Given the description of an element on the screen output the (x, y) to click on. 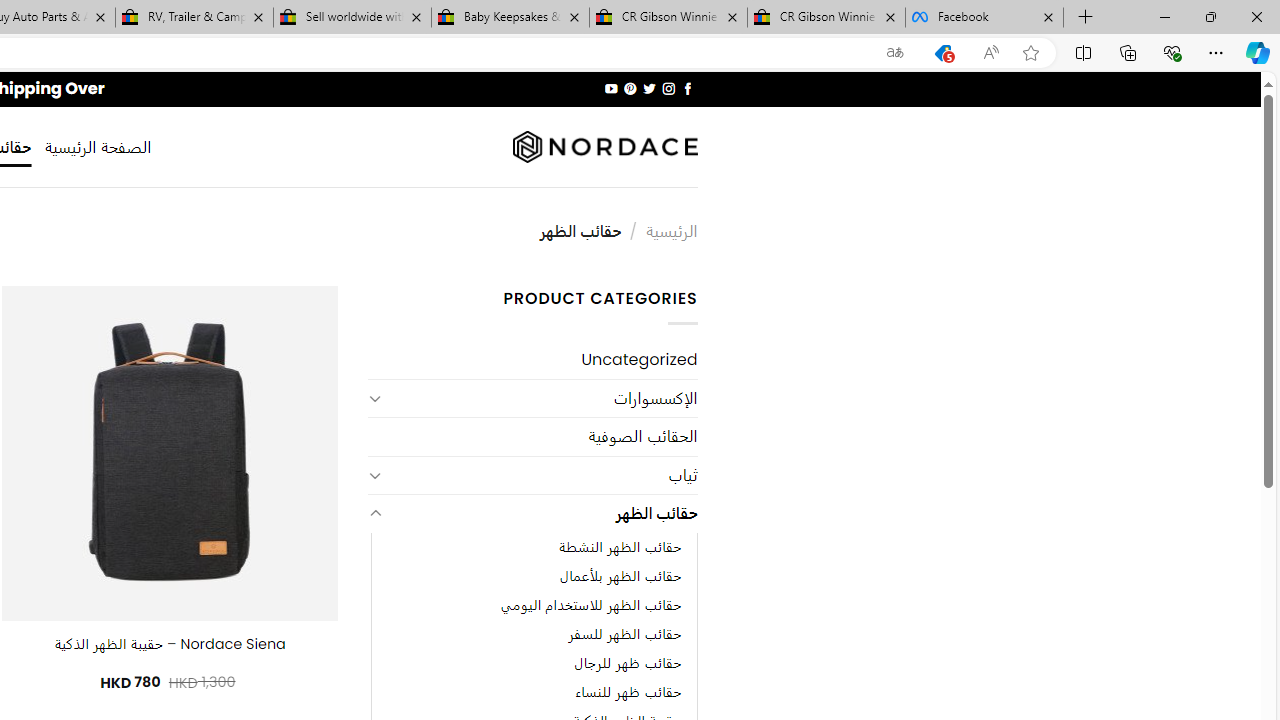
This site has coupons! Shopping in Microsoft Edge, 5 (943, 53)
Follow on Facebook (686, 88)
Show translate options (895, 53)
Uncategorized (532, 359)
